Given the description of an element on the screen output the (x, y) to click on. 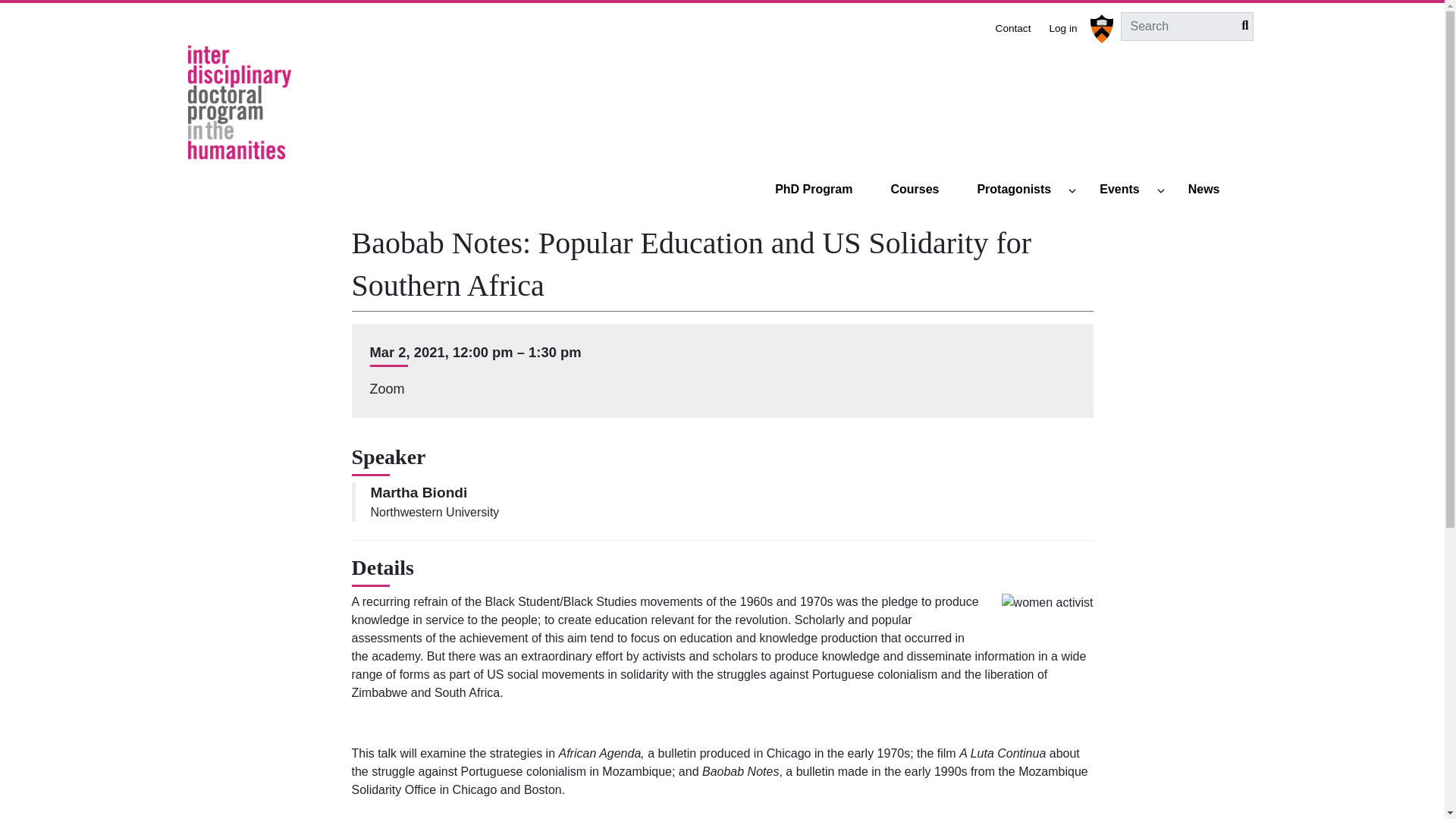
Events (1125, 190)
PhD Program (820, 190)
News (1211, 190)
Log in (1062, 25)
Contact (1012, 25)
Courses (920, 190)
Submit (1240, 25)
Submit (1240, 25)
Protagonists (1020, 190)
